Given the description of an element on the screen output the (x, y) to click on. 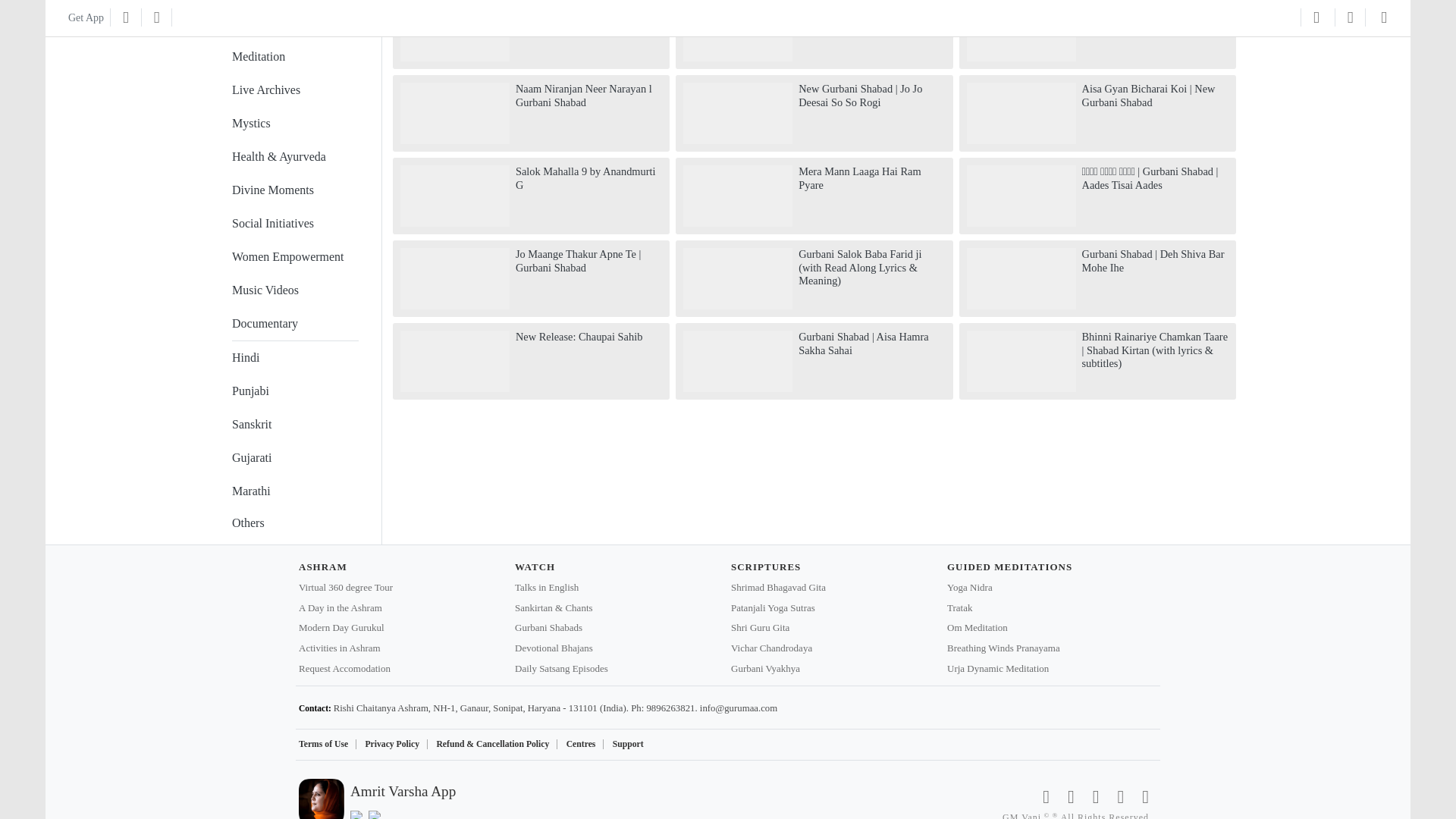
16 videos (294, 224)
47 videos (294, 157)
51 videos (294, 123)
76 videos (294, 90)
103 videos (294, 20)
13 videos (294, 257)
38 videos (294, 191)
99 videos (294, 57)
